Given the description of an element on the screen output the (x, y) to click on. 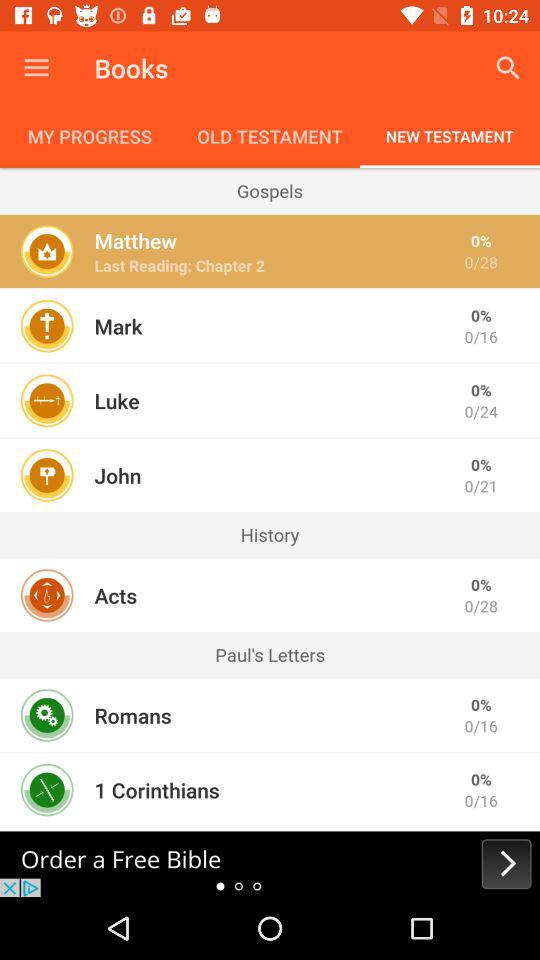
swipe until the mark item (118, 325)
